Given the description of an element on the screen output the (x, y) to click on. 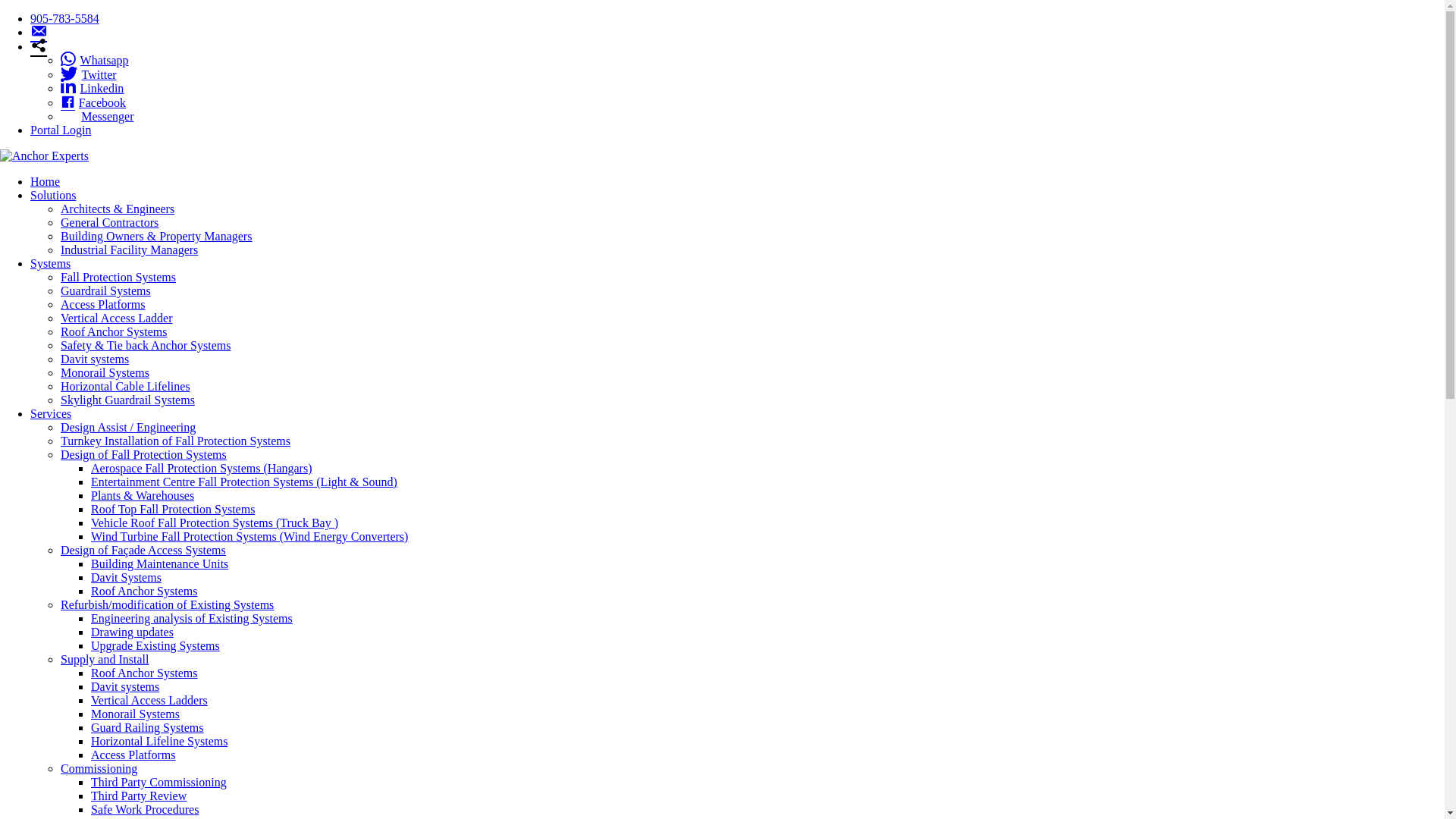
Services Element type: text (50, 413)
Whatsapp Element type: text (94, 59)
Engineering analysis of Existing Systems Element type: text (191, 617)
Vehicle Roof Fall Protection Systems (Truck Bay ) Element type: text (214, 522)
Roof Anchor Systems Element type: text (113, 331)
Roof Anchor Systems Element type: text (144, 590)
Home Element type: text (44, 181)
Horizontal Lifeline Systems Element type: text (159, 740)
Access Platforms Element type: text (102, 304)
905-783-5584 Element type: text (64, 18)
Monorail Systems Element type: text (135, 713)
Refurbish/modification of Existing Systems Element type: text (166, 604)
Facebook Element type: text (92, 102)
General Contractors Element type: text (109, 222)
Drawing updates Element type: text (132, 631)
Design Assist / Engineering Element type: text (127, 426)
Supply and Install Element type: text (104, 658)
Email Element type: text (38, 31)
Solutions Element type: text (52, 194)
Horizontal Cable Lifelines Element type: text (125, 385)
Plants & Warehouses Element type: text (142, 495)
Access Platforms Element type: text (133, 754)
Davit systems Element type: text (125, 686)
Twitter Element type: text (88, 74)
Roof Anchor Systems Element type: text (144, 672)
Linkedin Element type: text (91, 87)
Building Owners & Property Managers Element type: text (155, 235)
Commissioning Element type: text (98, 768)
Guardrail Systems Element type: text (105, 290)
Industrial Facility Managers Element type: text (128, 249)
Davit Systems Element type: text (126, 577)
Portal Login Element type: text (60, 129)
Safe Work Procedures Element type: text (144, 809)
Messenger Element type: text (97, 115)
Fall Protection Systems Element type: text (117, 276)
Building Maintenance Units Element type: text (159, 563)
Vertical Access Ladder Element type: text (116, 317)
Third Party Review Element type: text (138, 795)
Entertainment Centre Fall Protection Systems (Light & Sound) Element type: text (244, 481)
Vertical Access Ladders Element type: text (149, 699)
Safety & Tie back Anchor Systems Element type: text (145, 344)
Skylight Guardrail Systems Element type: text (127, 399)
Monorail Systems Element type: text (104, 372)
Architects & Engineers Element type: text (117, 208)
Systems Element type: text (50, 263)
Aerospace Fall Protection Systems (Hangars) Element type: text (201, 467)
Turnkey Installation of Fall Protection Systems Element type: text (175, 440)
Anchor Experts Logo Web Element type: hover (44, 156)
Third Party Commissioning Element type: text (158, 781)
Design of Fall Protection Systems Element type: text (143, 454)
Davit systems Element type: text (94, 358)
Follow Us Element type: text (38, 46)
Roof Top Fall Protection Systems Element type: text (172, 508)
Guard Railing Systems Element type: text (147, 727)
Upgrade Existing Systems Element type: text (155, 645)
